Given the description of an element on the screen output the (x, y) to click on. 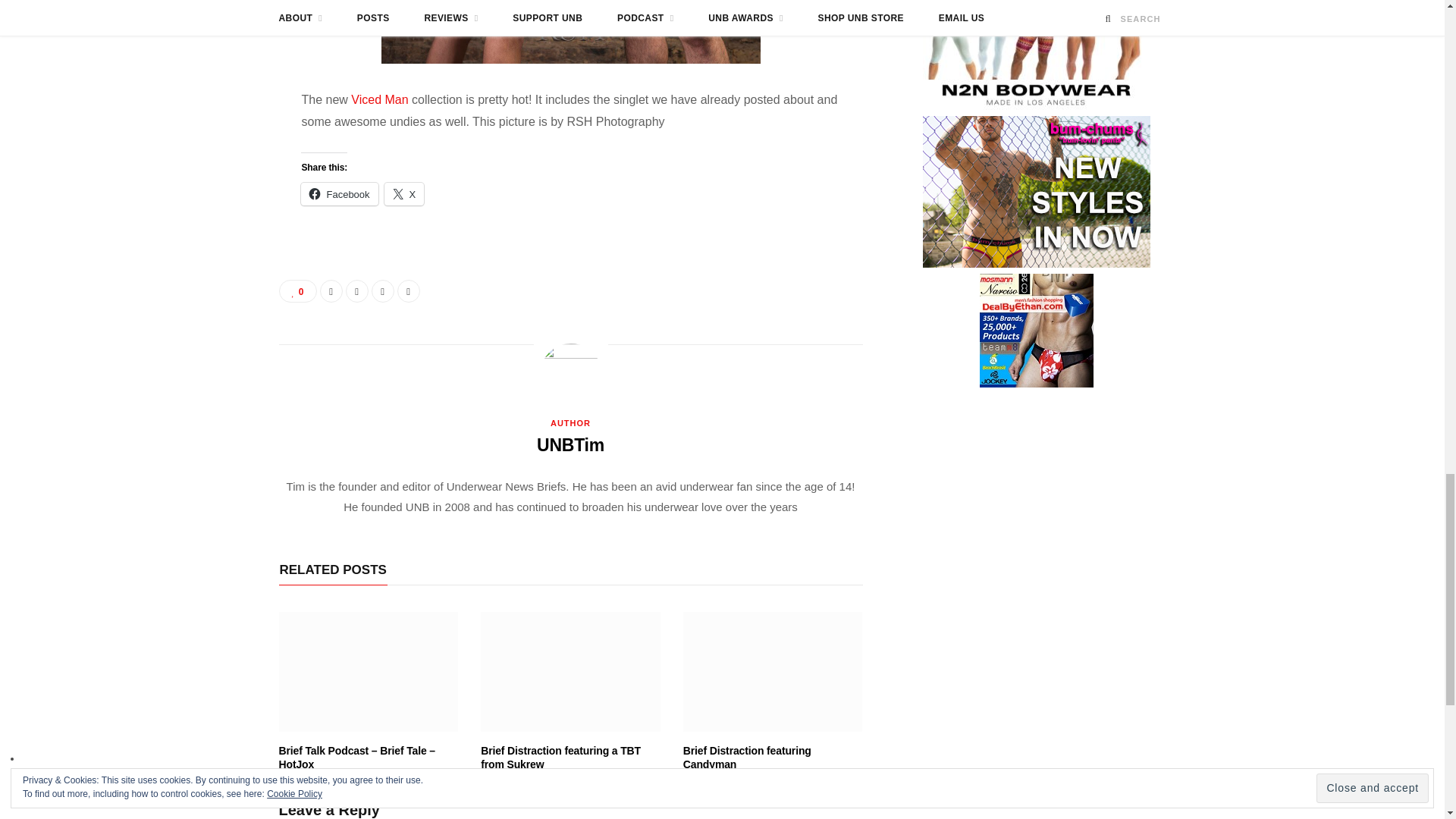
Brief Distraction featuring Candyman (772, 671)
Posts by UNBTim (570, 445)
Pinterest (382, 291)
Click to share on X (404, 193)
Share on Twitter (357, 291)
Click to share on Facebook (339, 193)
Email (408, 291)
Brief Distraction featuring a TBT from Sukrew (570, 671)
Share on Facebook (331, 291)
